Given the description of an element on the screen output the (x, y) to click on. 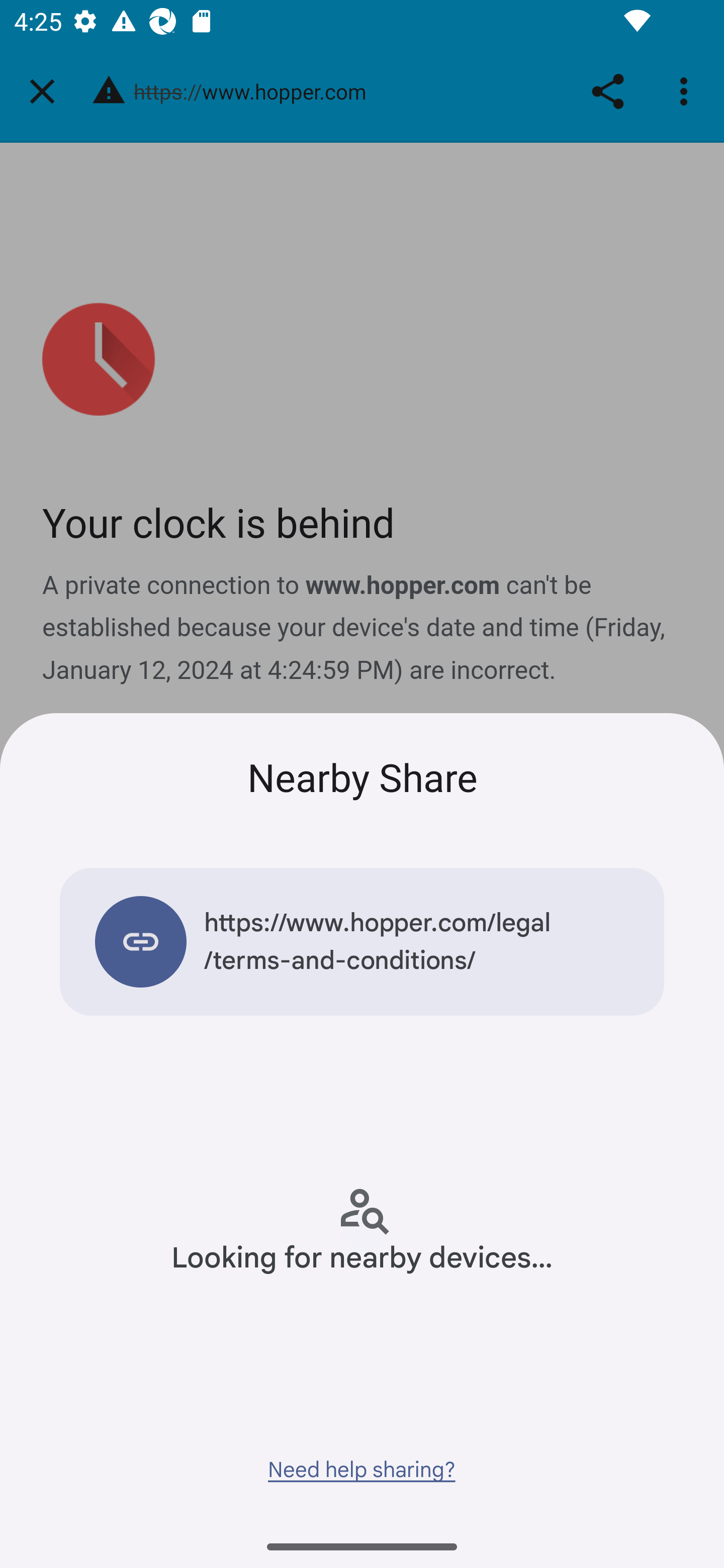
Need help sharing? (361, 1468)
